Given the description of an element on the screen output the (x, y) to click on. 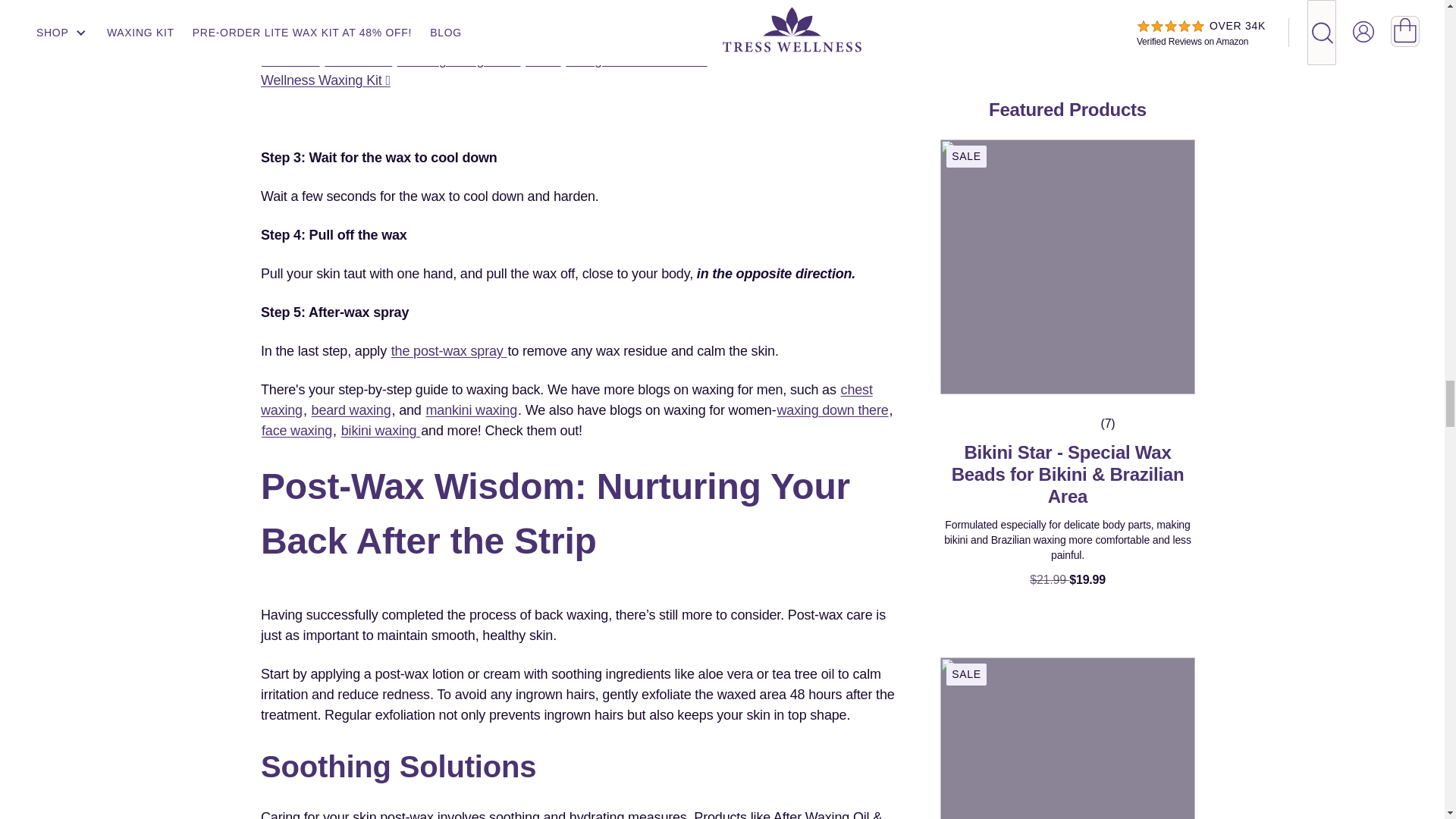
Should you shave or wax down there? (832, 410)
hardwax (290, 59)
waxing (652, 39)
Beard waxing for men (351, 410)
usa (542, 59)
howtowax (357, 59)
waxingforbeginners (458, 59)
Chest waxing for men (566, 399)
Mankini waxing for men (471, 410)
